Given the description of an element on the screen output the (x, y) to click on. 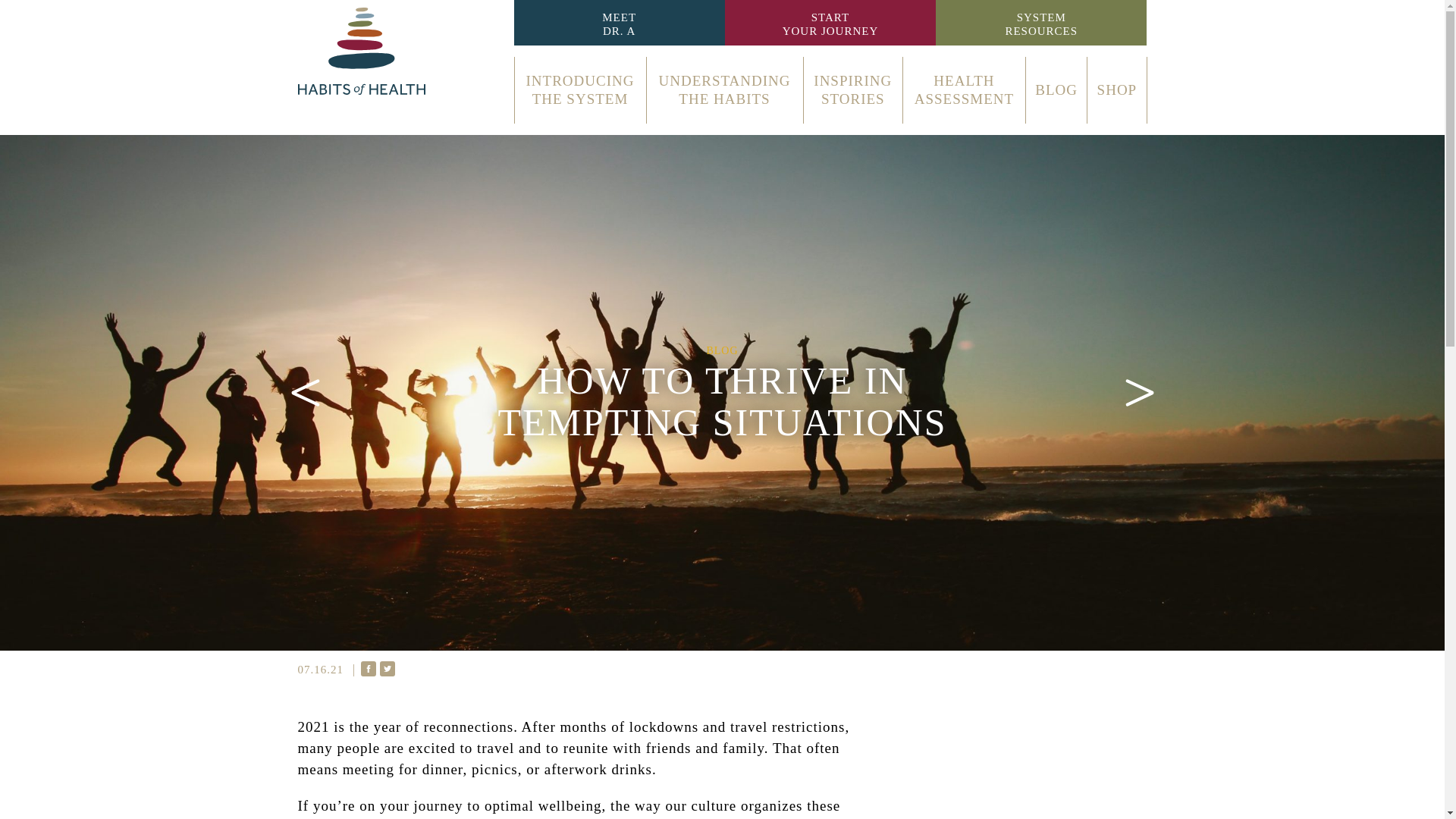
Share on Facebook (579, 89)
SHOP (368, 668)
Share on Twitter (619, 23)
5 Ways to Shop Healthier and Conquer the Grocery Store (830, 23)
BLOG (1117, 89)
Why Water is Your Secret Weapon (963, 89)
